Given the description of an element on the screen output the (x, y) to click on. 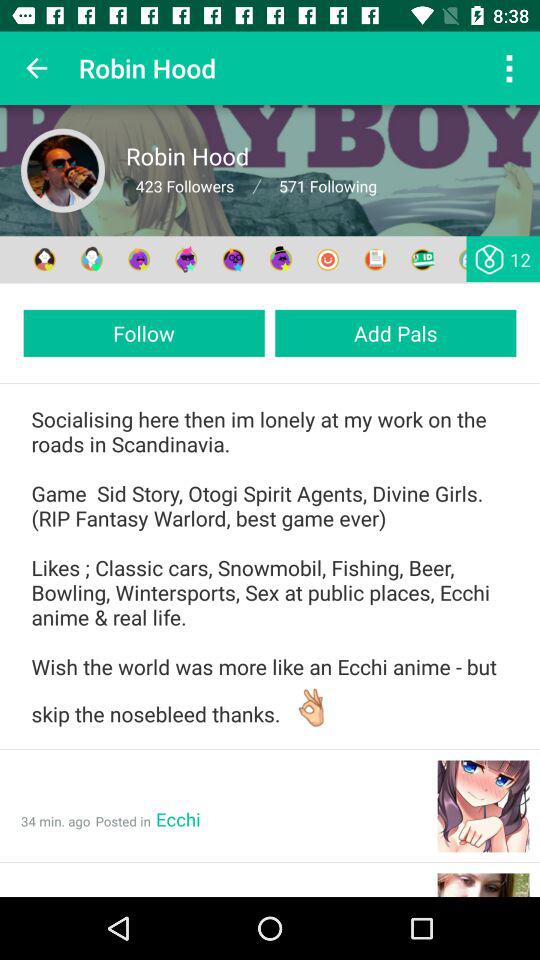
connect with other users (233, 259)
